Given the description of an element on the screen output the (x, y) to click on. 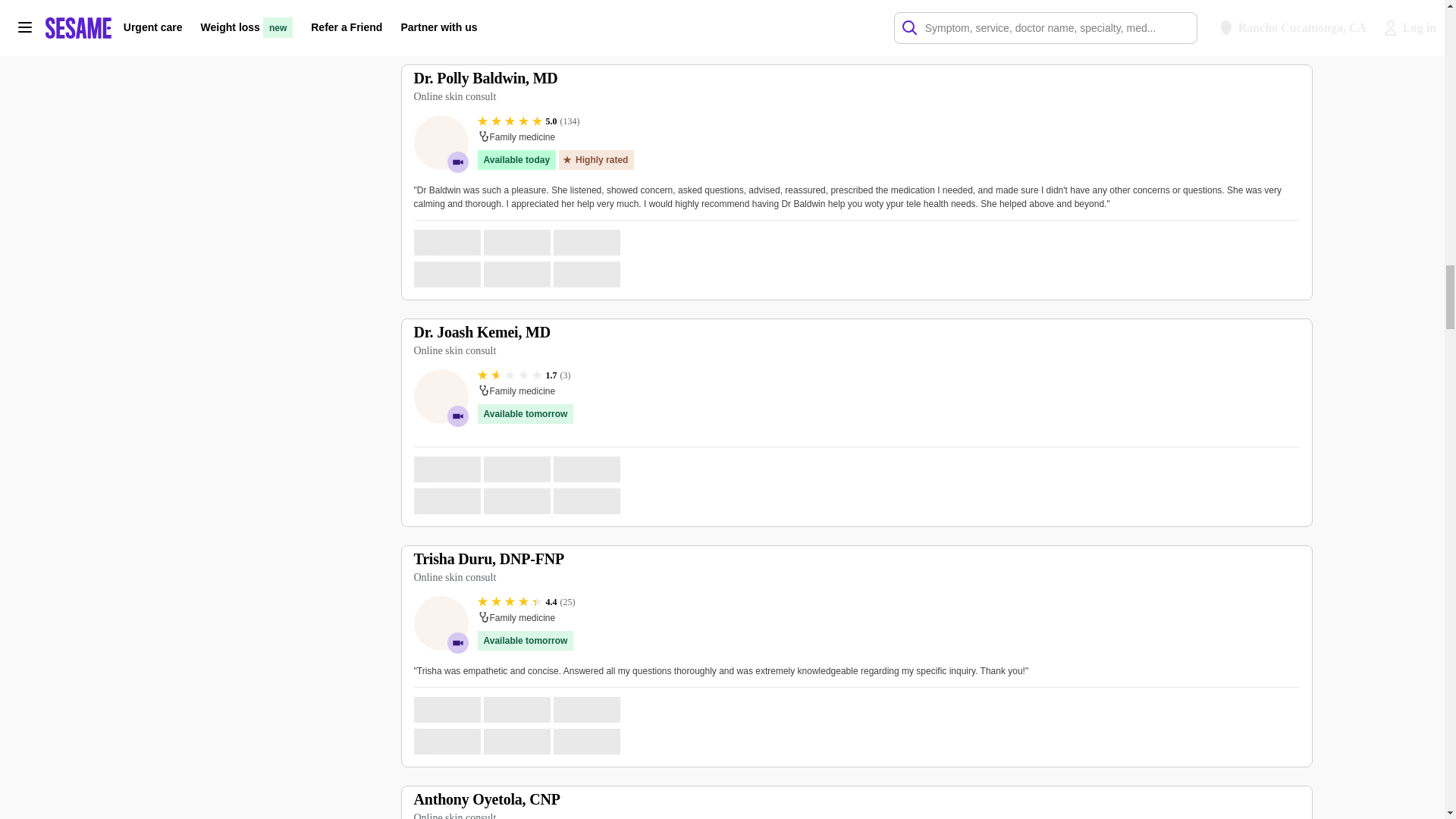
This provider has an overall rating of 4.4 out of 5 stars. (526, 602)
This provider has an overall rating of 5.0 out of 5 stars. (528, 121)
This provider has an overall rating of 1.7 out of 5 stars. (523, 375)
